Given the description of an element on the screen output the (x, y) to click on. 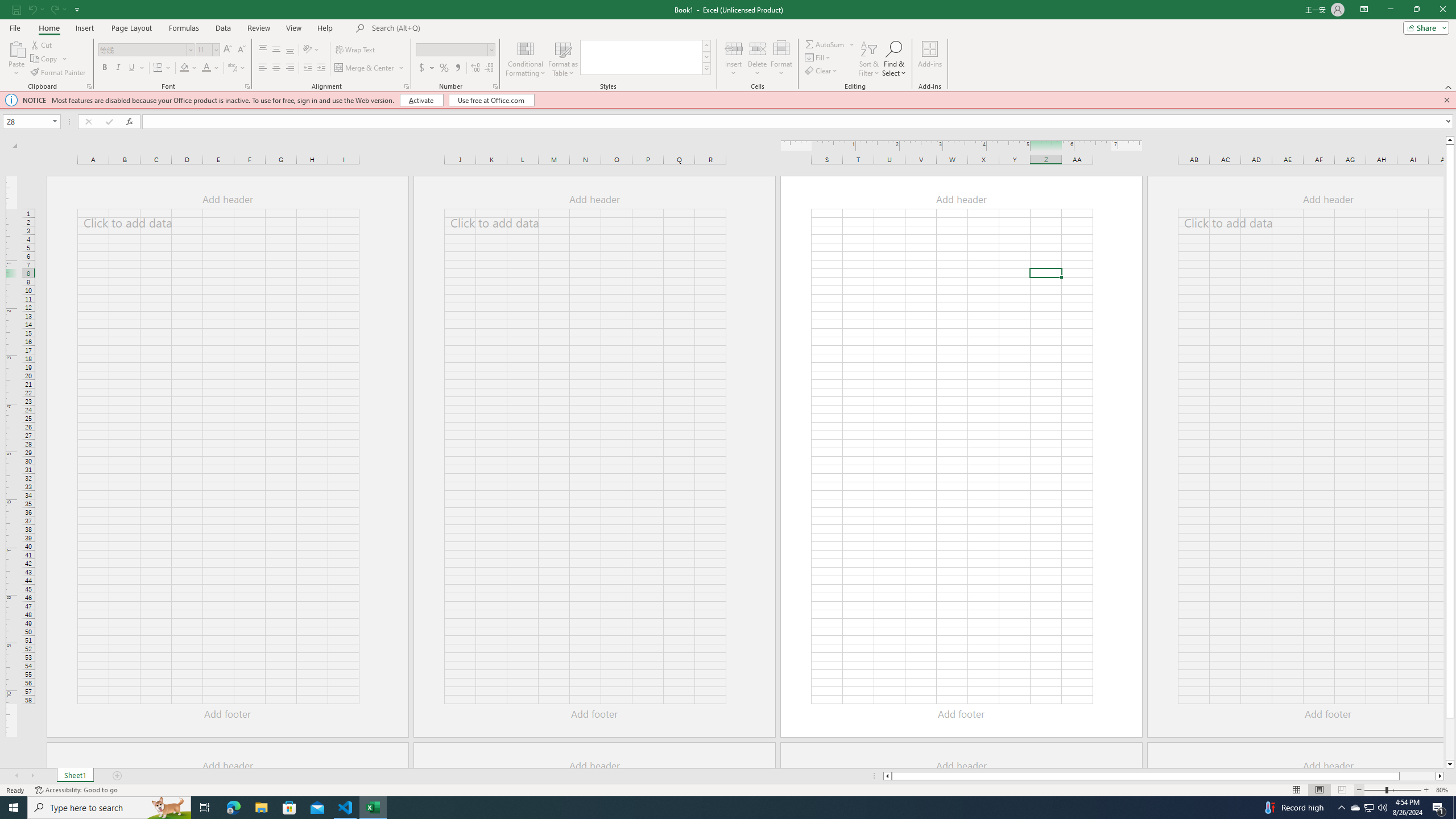
Increase Font Size (227, 49)
Insert Cells (733, 48)
Decrease Indent (307, 67)
Format Cell Font (247, 85)
